Given the description of an element on the screen output the (x, y) to click on. 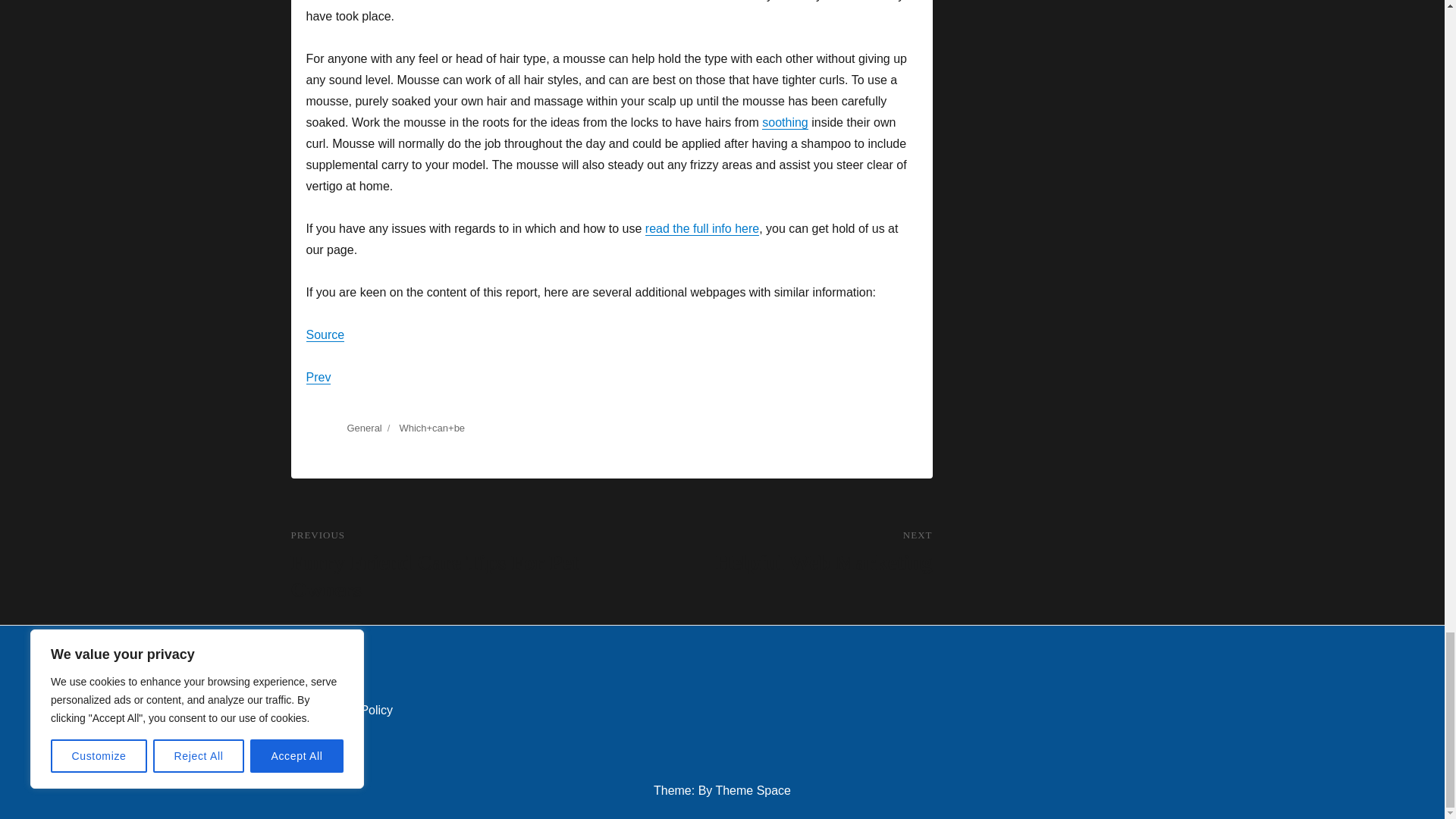
General (771, 551)
soothing (364, 428)
Source (784, 122)
read the full info here (325, 334)
Prev (701, 228)
